Given the description of an element on the screen output the (x, y) to click on. 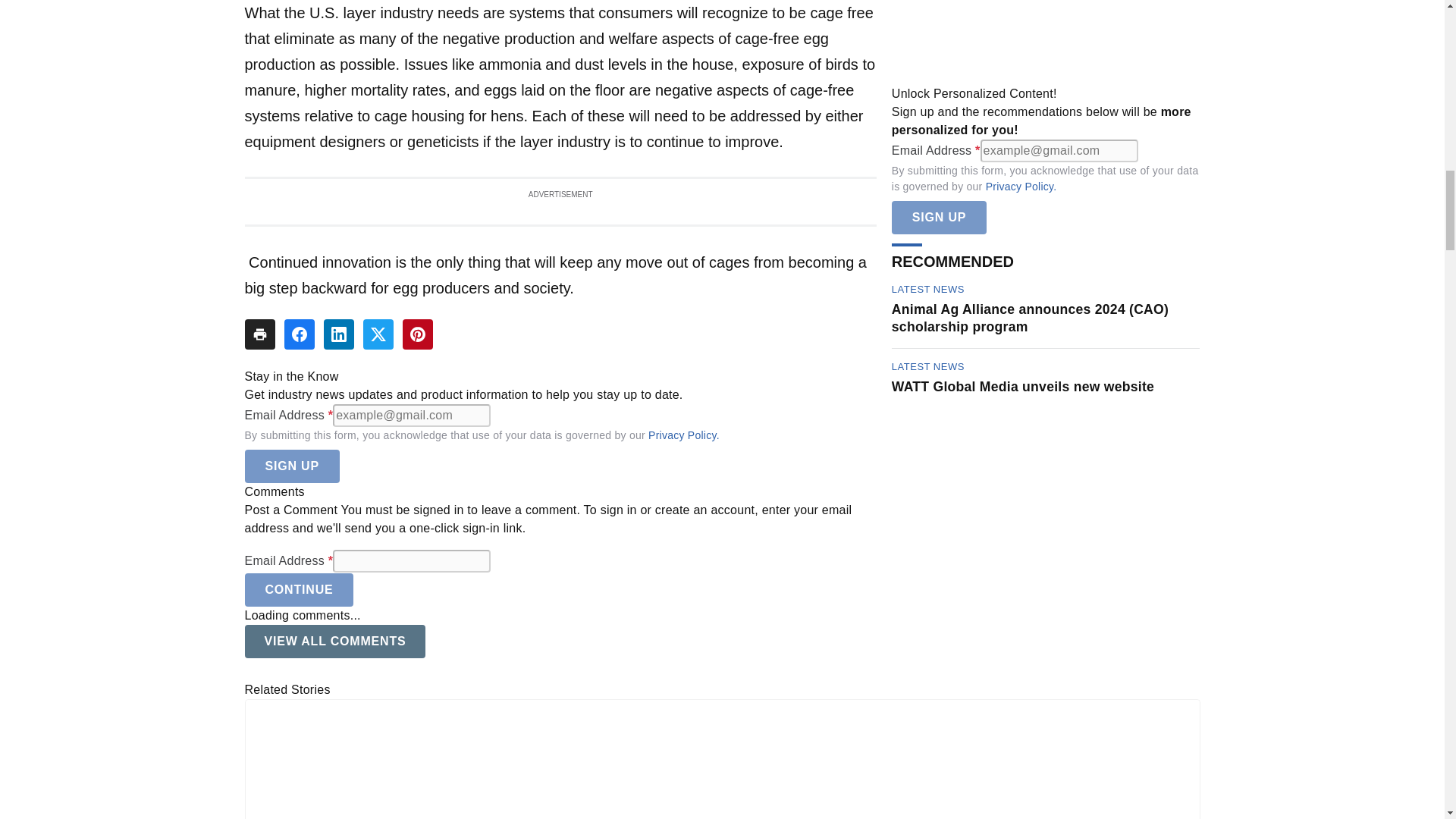
Share To pinterest (416, 334)
Share To linkedin (338, 334)
Share To facebook (298, 334)
Share To print (259, 334)
Share To twitter (377, 334)
